Given the description of an element on the screen output the (x, y) to click on. 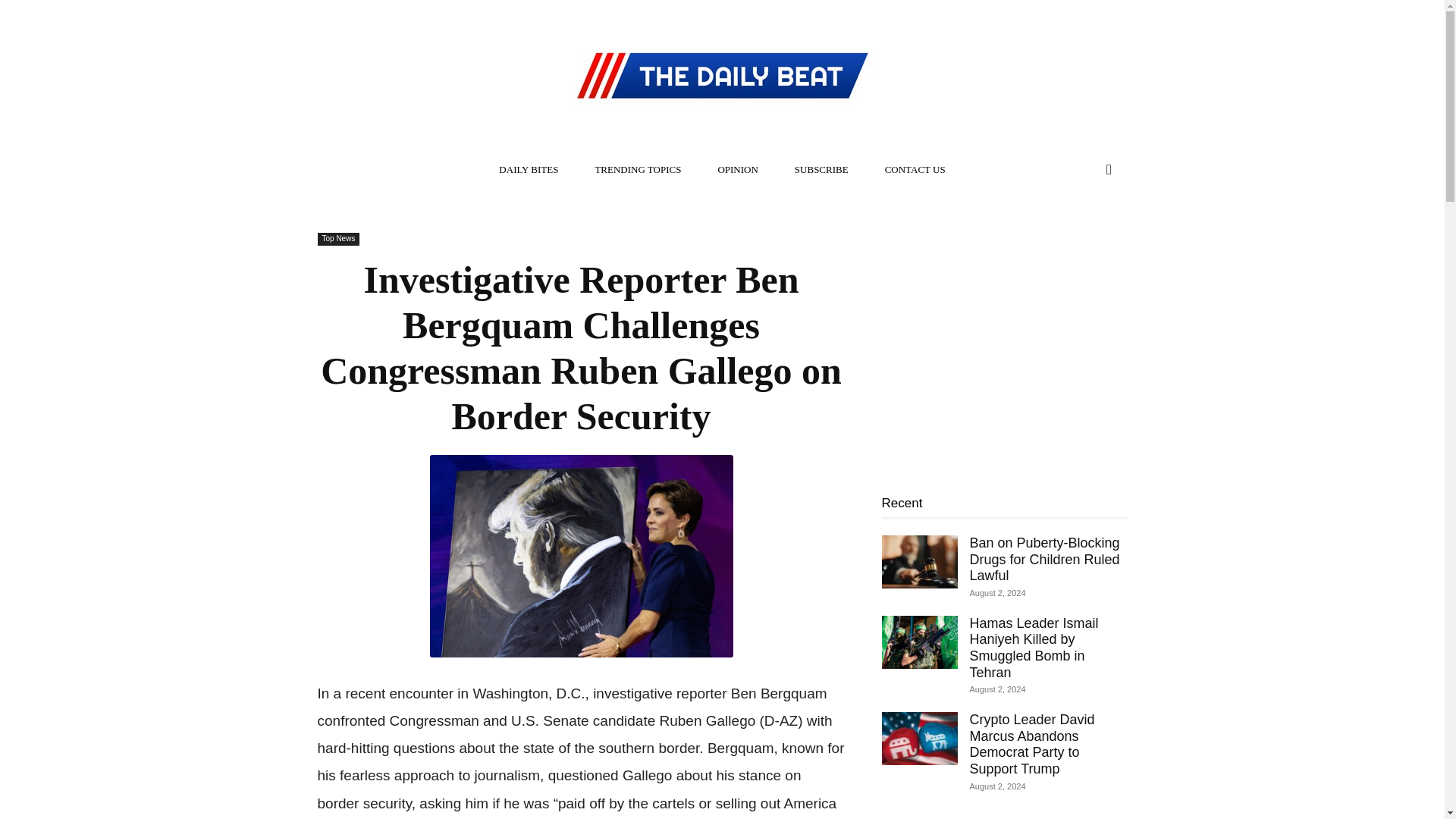
CONTACT US (914, 169)
Search (1077, 230)
National,Harbor,,Md,Us,-,Mar,3,,2023:,Kari,Lake (580, 556)
SUBSCRIBE (821, 169)
DAILY BITES (528, 169)
OPINION (737, 169)
Top News (338, 238)
TRENDING TOPICS (637, 169)
